Given the description of an element on the screen output the (x, y) to click on. 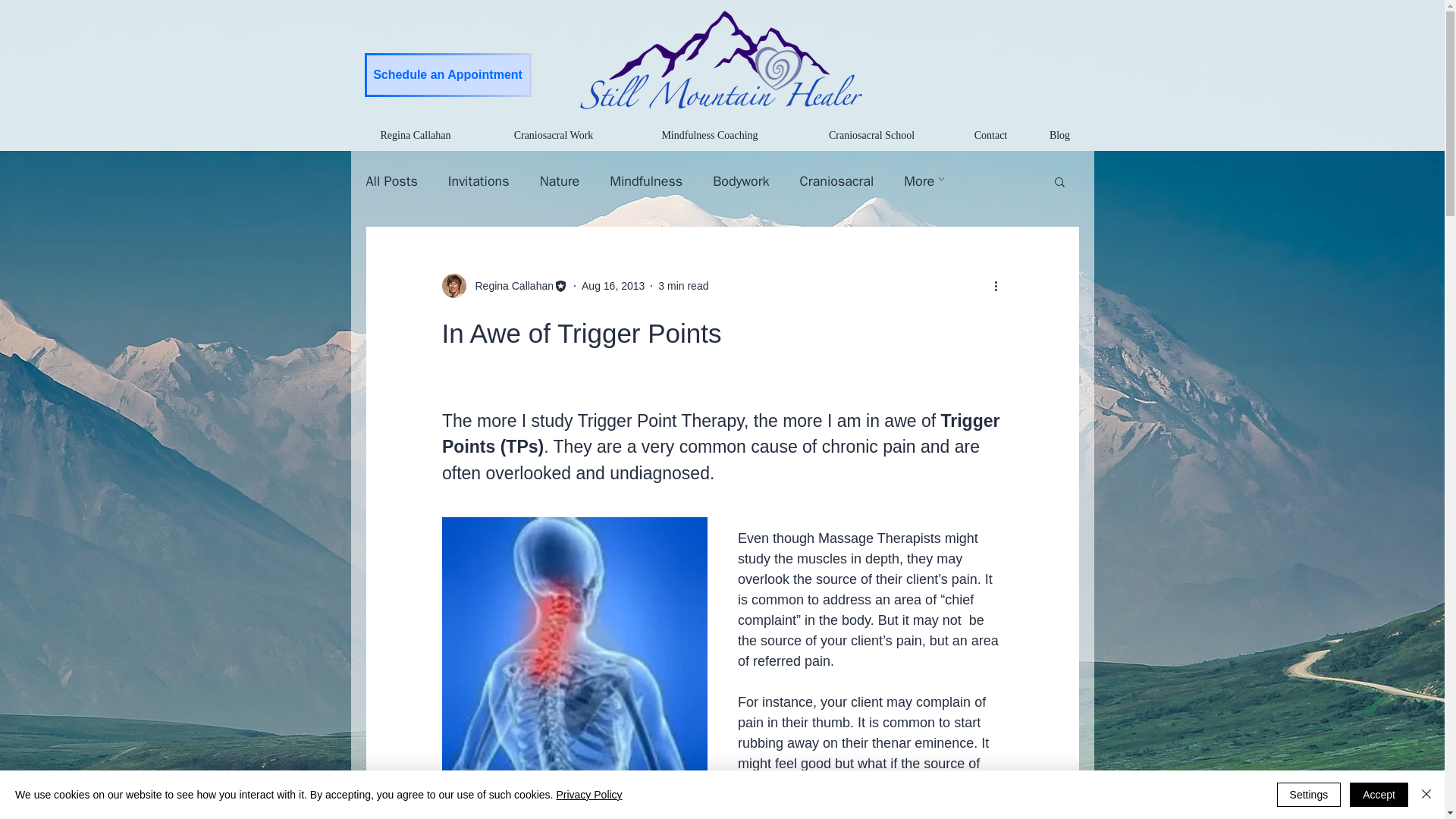
Mindfulness Coaching (709, 135)
3 min read (682, 285)
Regina Callahan (504, 285)
Craniosacral Work (553, 135)
Regina Callahan (509, 285)
Craniosacral School (871, 135)
Schedule an Appointment (447, 75)
Invitations (478, 180)
Contact (990, 135)
Blog (1059, 135)
Aug 16, 2013 (612, 285)
Mindfulness (646, 180)
Bodywork (740, 180)
Regina Callahan (415, 135)
All Posts (390, 180)
